Given the description of an element on the screen output the (x, y) to click on. 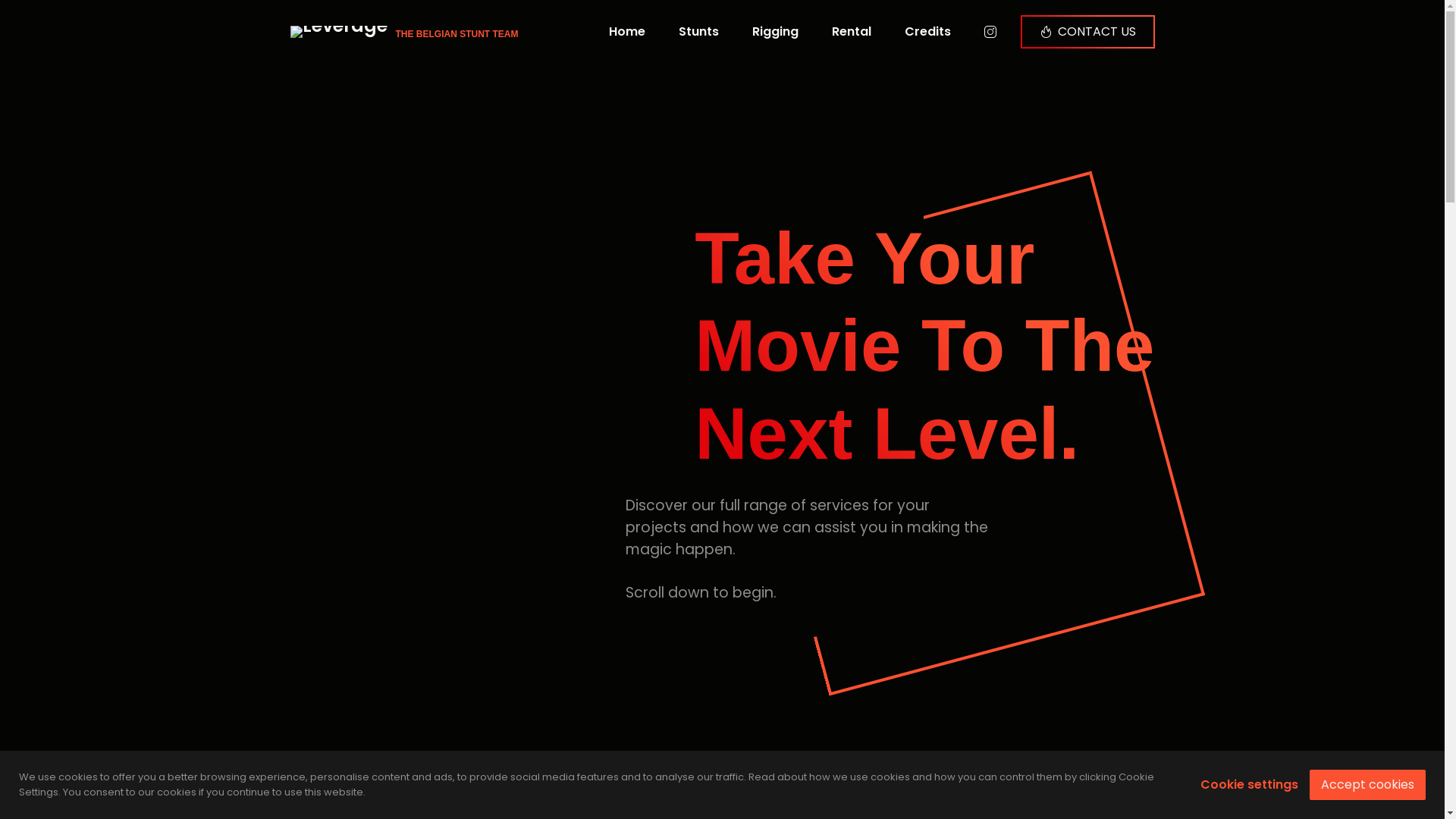
THE BELGIAN STUNT TEAM Element type: text (403, 31)
CONTACT US Element type: text (1087, 31)
Credits   Element type: text (929, 31)
Rigging   Element type: text (778, 31)
Home   Element type: text (629, 31)
Cookie settings Element type: text (1249, 784)
Accept cookies Element type: text (1367, 784)
Stunts   Element type: text (700, 31)
Rental   Element type: text (853, 31)
